Given the description of an element on the screen output the (x, y) to click on. 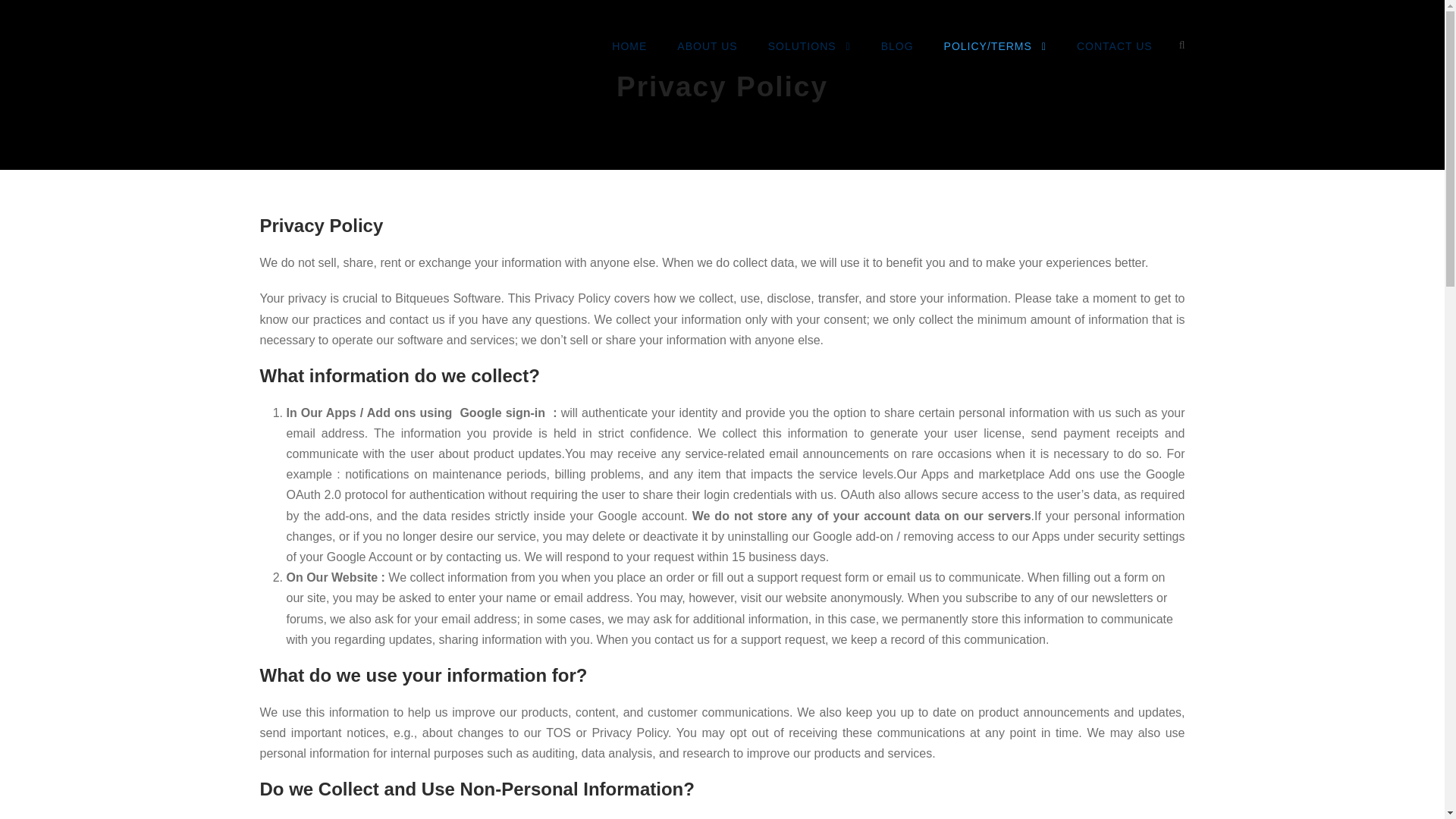
SOLUTIONS (809, 50)
bq-logo (314, 47)
ABOUT US (706, 50)
HOME (628, 50)
BLOG (897, 50)
